Given the description of an element on the screen output the (x, y) to click on. 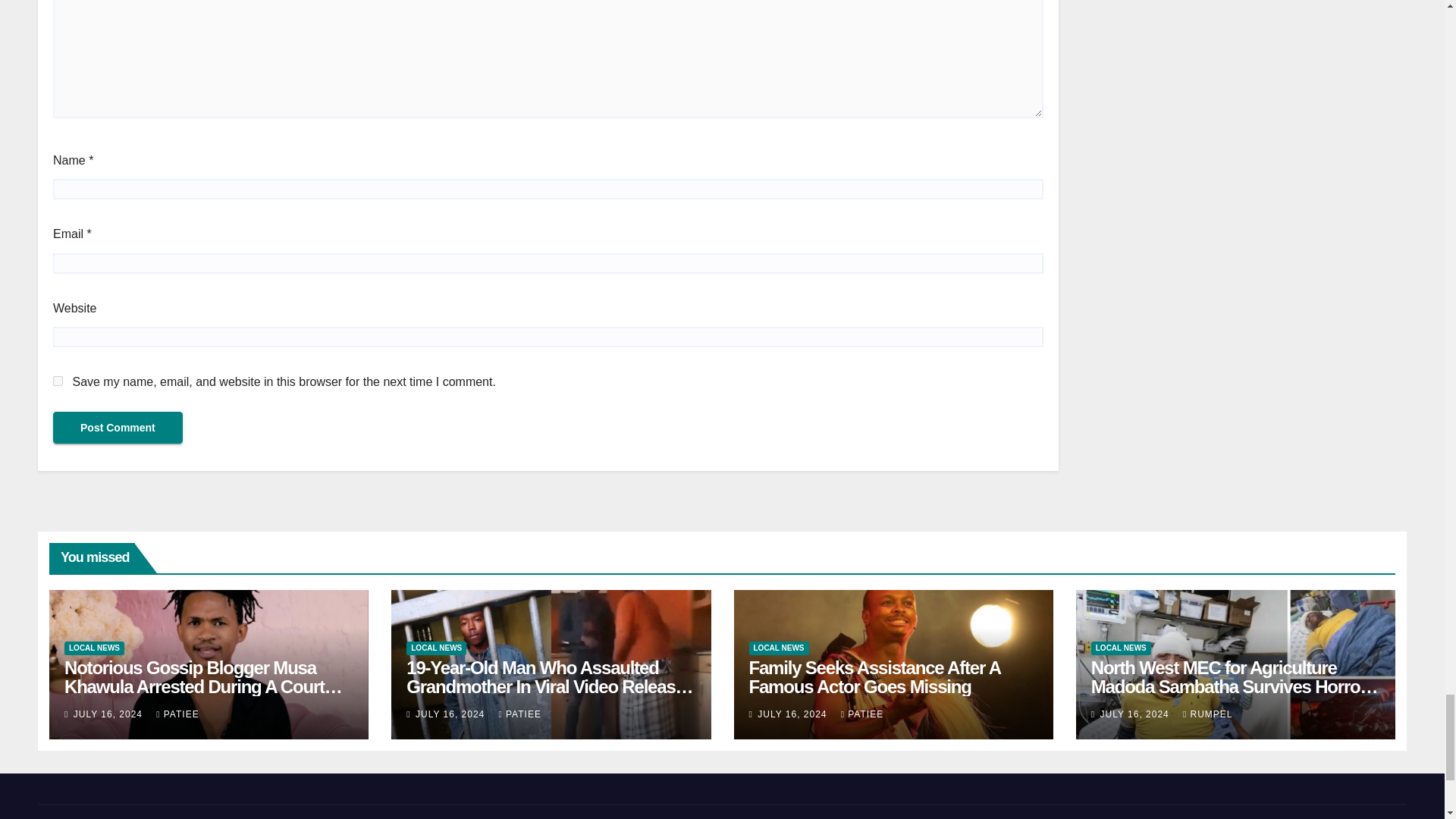
Post Comment (117, 427)
yes (57, 380)
